Given the description of an element on the screen output the (x, y) to click on. 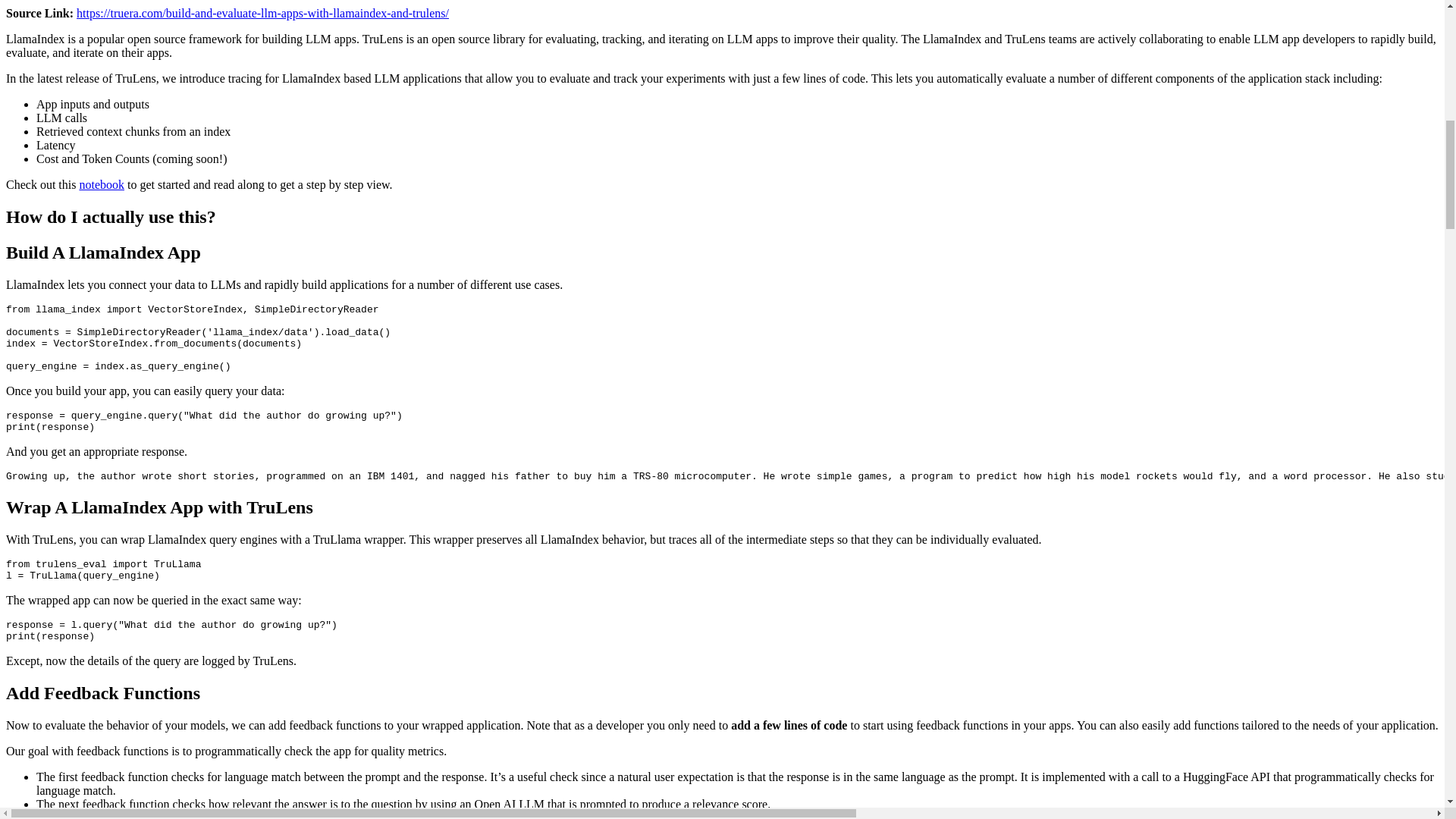
notebook (100, 184)
